Given the description of an element on the screen output the (x, y) to click on. 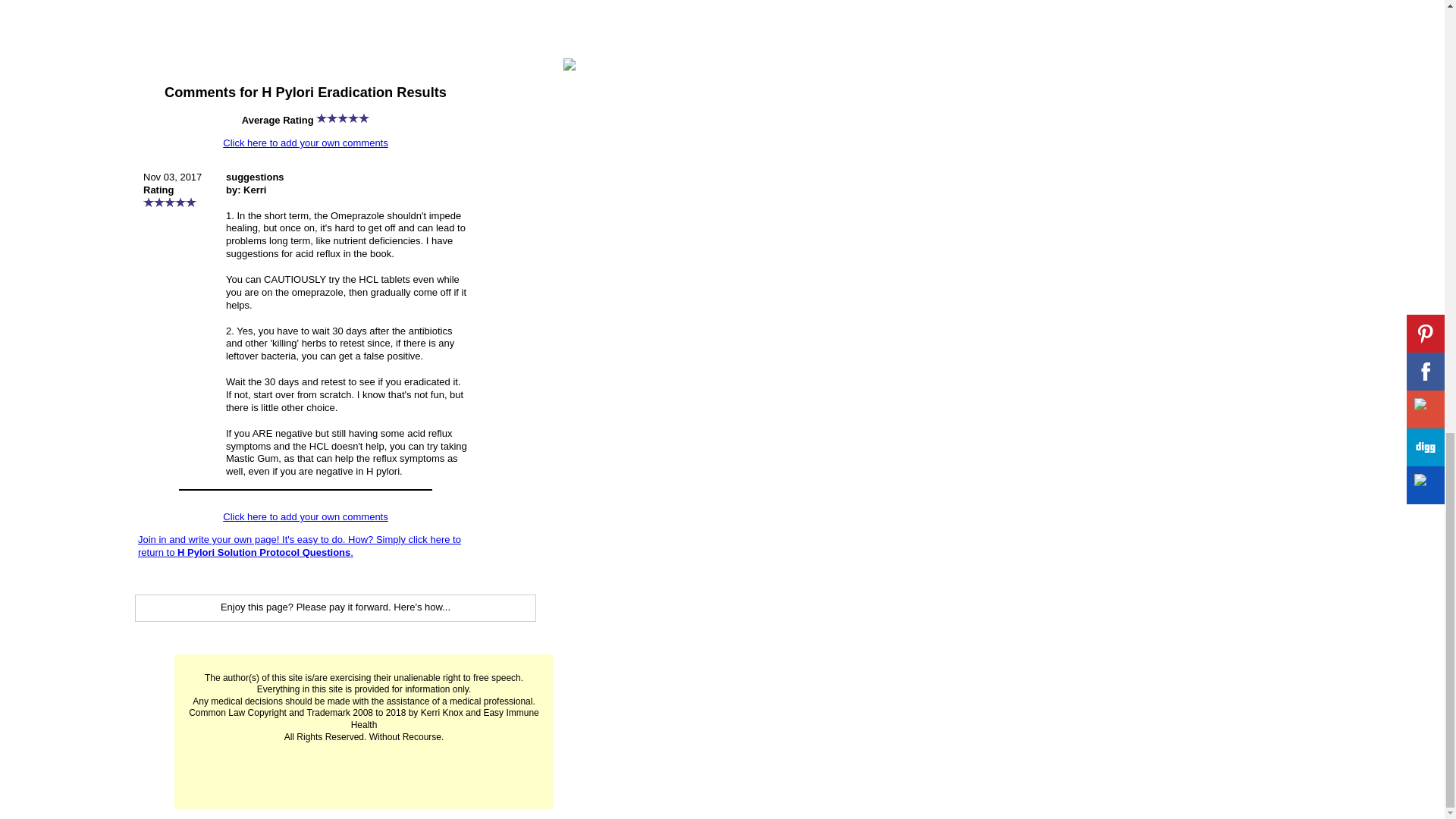
Click here to add your own comments (304, 516)
Click here to add your own comments (304, 142)
Advertisement (335, 36)
